Given the description of an element on the screen output the (x, y) to click on. 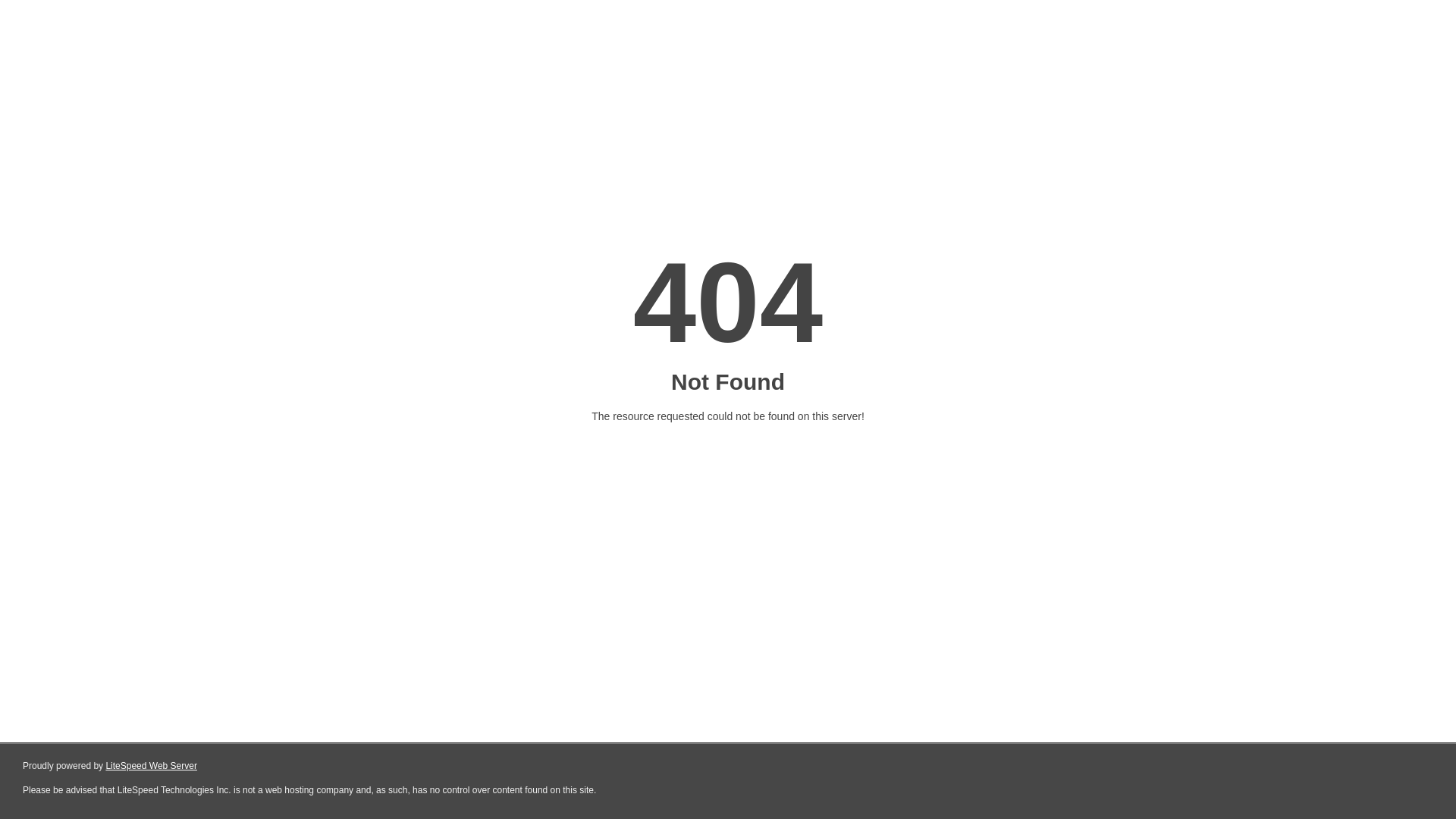
LiteSpeed Web Server Element type: text (151, 765)
